Given the description of an element on the screen output the (x, y) to click on. 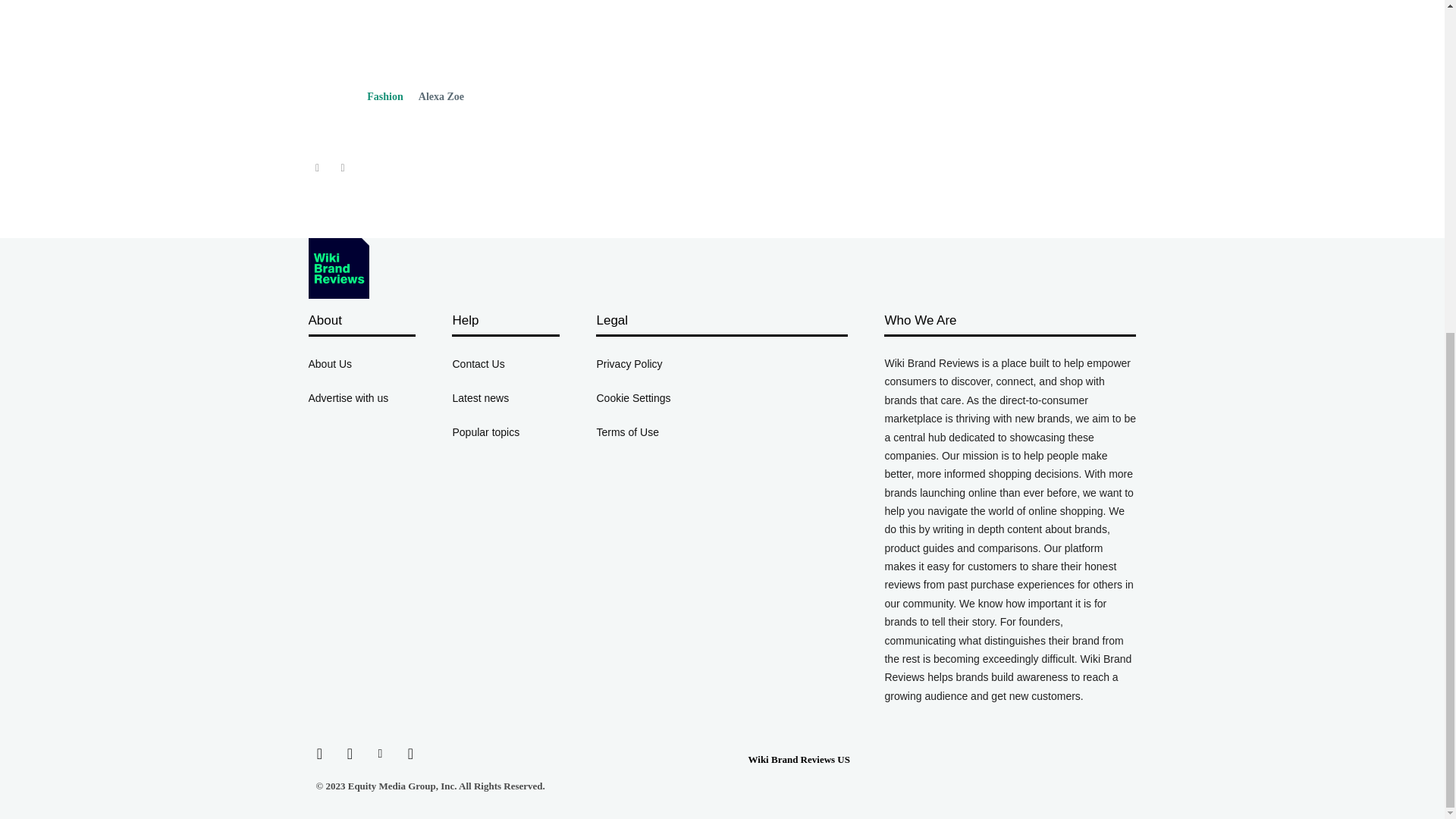
Instagram (349, 753)
Facebook (318, 753)
Pinterest (379, 753)
MLBshop Review: Houston Astro 2023 Gold Collection To Buy! (435, 71)
Twitter (410, 753)
